Given the description of an element on the screen output the (x, y) to click on. 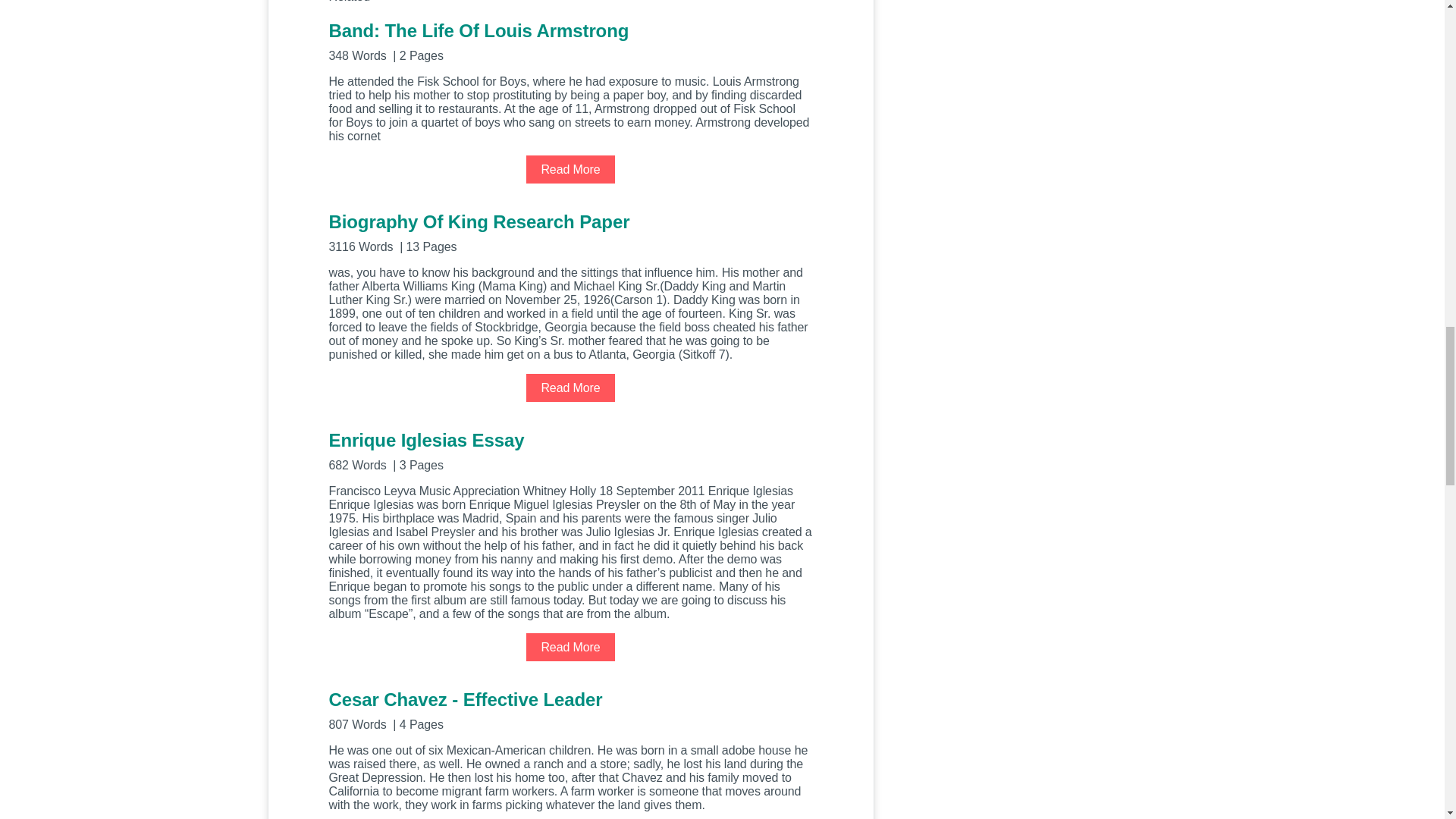
Biography Of King Research Paper (570, 231)
Read More (569, 646)
Read More (569, 169)
Read More (569, 387)
Cesar Chavez - Effective Leader (570, 709)
Enrique Iglesias Essay (570, 449)
Band: The Life Of Louis Armstrong (570, 40)
